Given the description of an element on the screen output the (x, y) to click on. 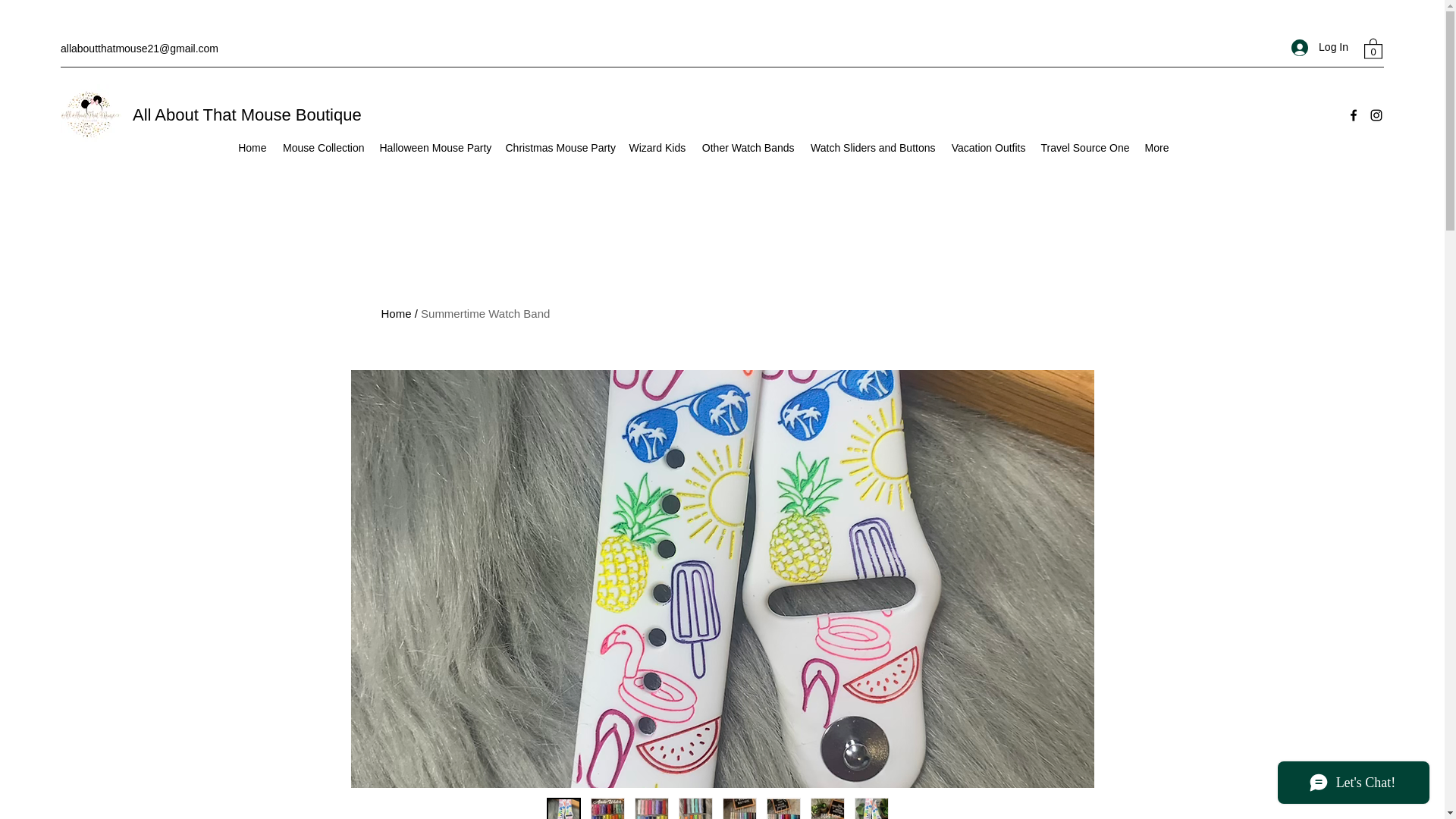
0 (1372, 47)
0 (1372, 47)
All About That Mouse Boutique (246, 114)
Watch Sliders and Buttons (872, 147)
Other Watch Bands (747, 147)
Christmas Mouse Party (559, 147)
Home (395, 313)
Home (252, 147)
Wizard Kids (657, 147)
Halloween Mouse Party (434, 147)
Summertime Watch Band (485, 313)
Mouse Collection (323, 147)
Travel Source One (1083, 147)
Log In (1319, 47)
Vacation Outfits (988, 147)
